Given the description of an element on the screen output the (x, y) to click on. 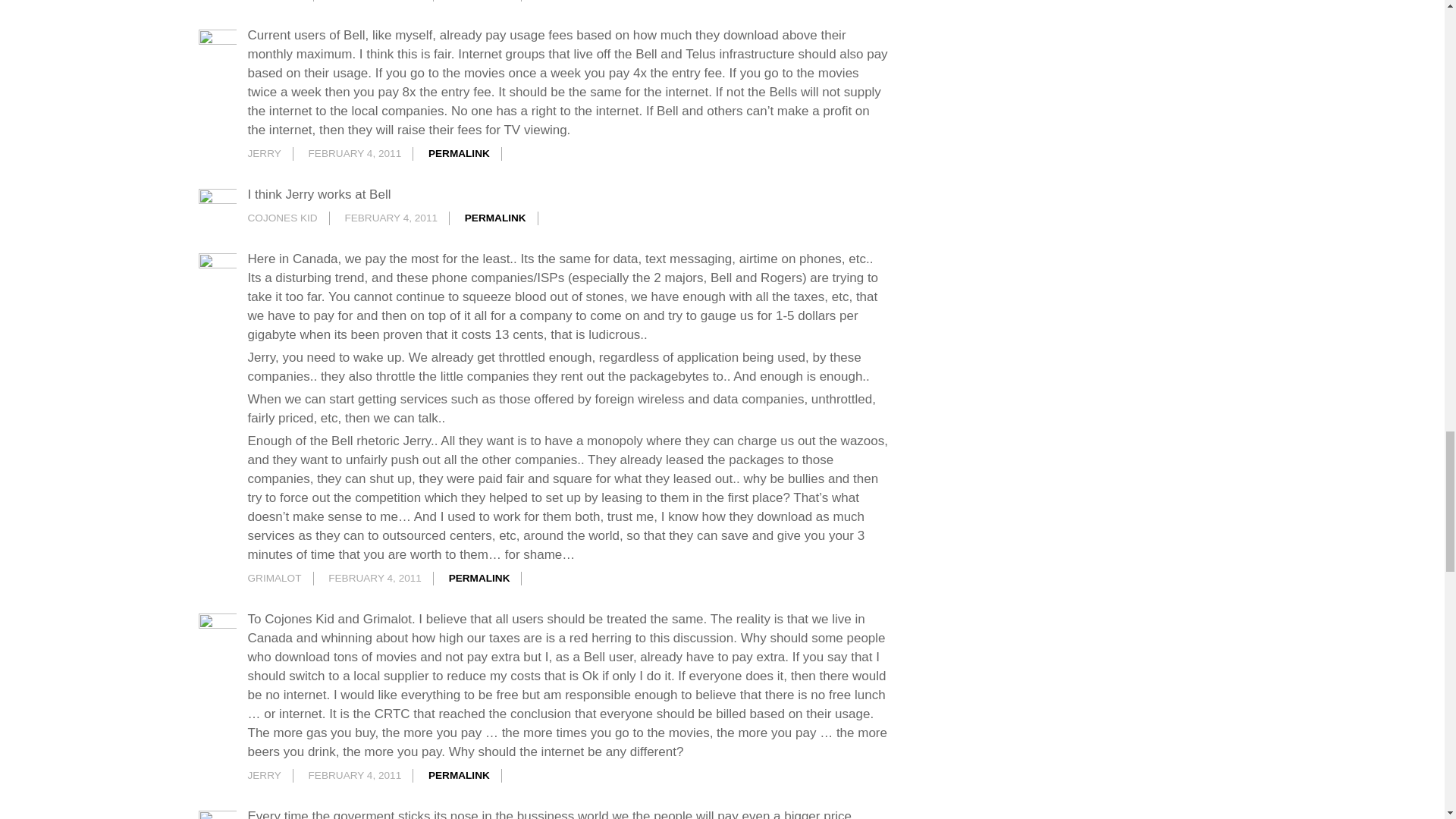
Friday, February 4, 2011, 4:21 pm (390, 217)
Friday, February 4, 2011, 12:20 pm (354, 153)
Friday, February 4, 2011, 4:39 pm (375, 577)
Friday, February 4, 2011, 7:31 pm (354, 775)
